Given the description of an element on the screen output the (x, y) to click on. 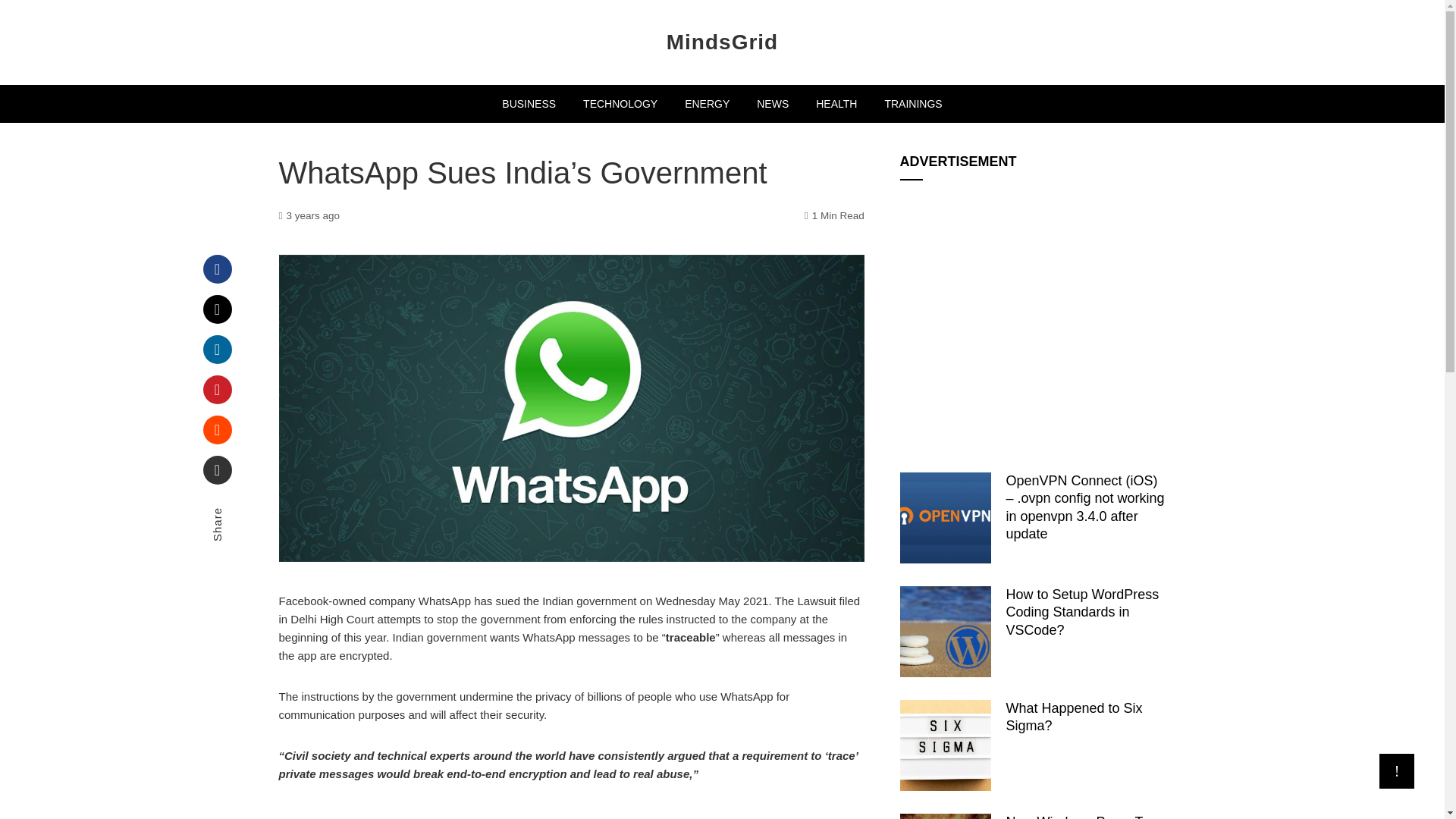
MindsGrid (721, 42)
3rd party ad content (571, 812)
ENERGY (706, 103)
How to Setup WordPress Coding Standards in VSCode? (1082, 612)
TRAININGS (912, 103)
Twitter (217, 308)
HEALTH (836, 103)
Pinterest (217, 389)
BUSINESS (528, 103)
3rd party ad content (1032, 315)
